Given the description of an element on the screen output the (x, y) to click on. 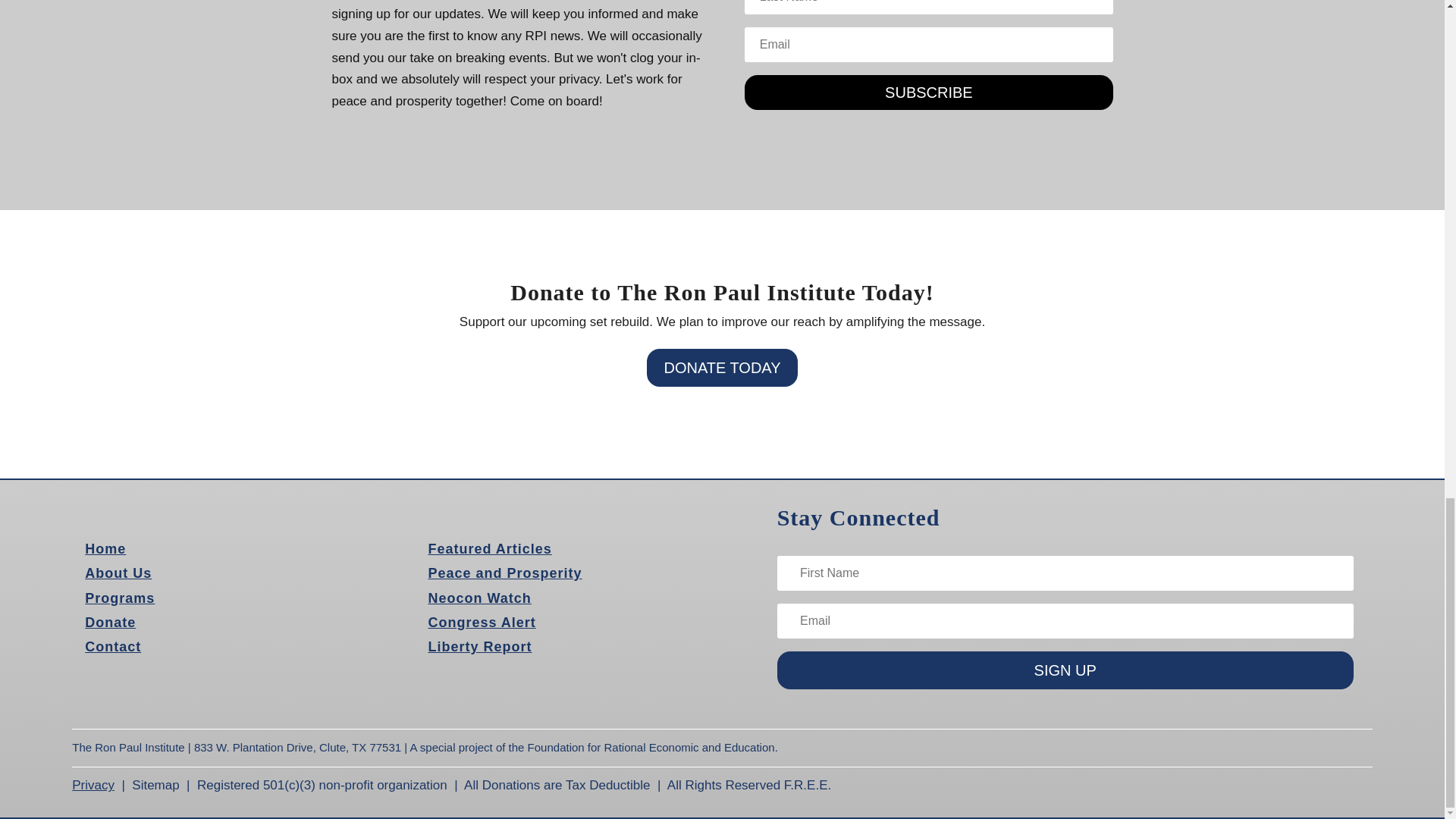
Review our Privacy Policy (93, 785)
SUBSCRIBE (928, 92)
